Given the description of an element on the screen output the (x, y) to click on. 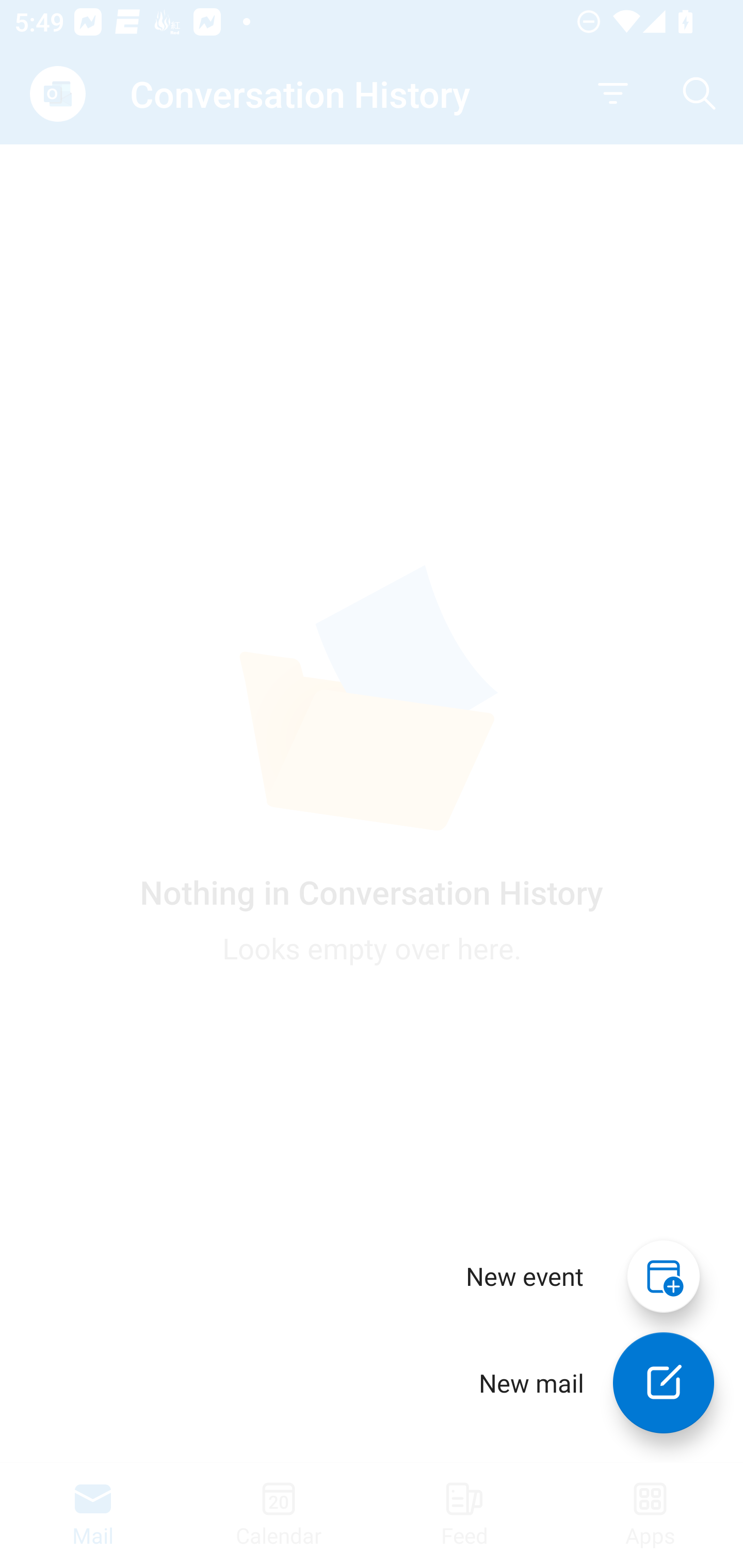
New event (524, 1275)
New mail New mail New mail (582, 1382)
New mail (663, 1382)
